Given the description of an element on the screen output the (x, y) to click on. 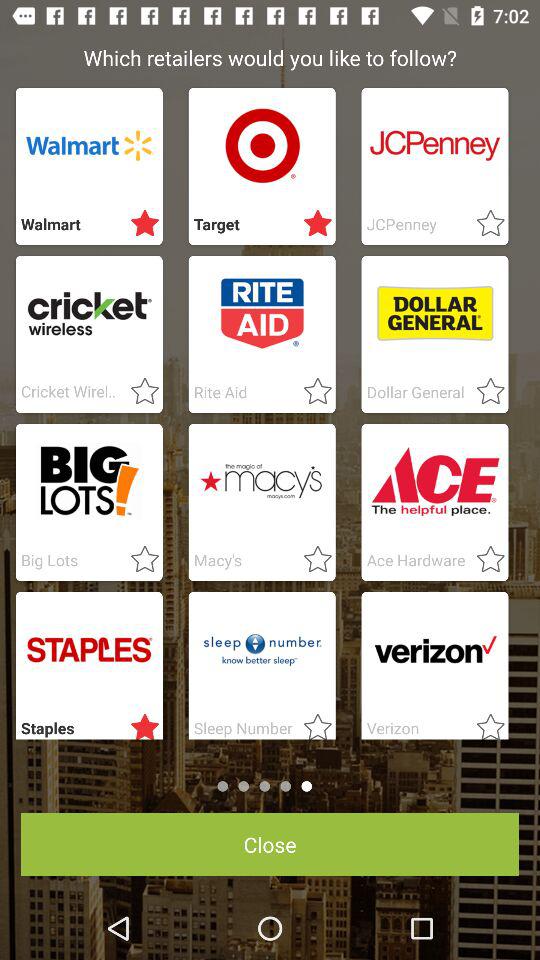
star option (484, 560)
